Given the description of an element on the screen output the (x, y) to click on. 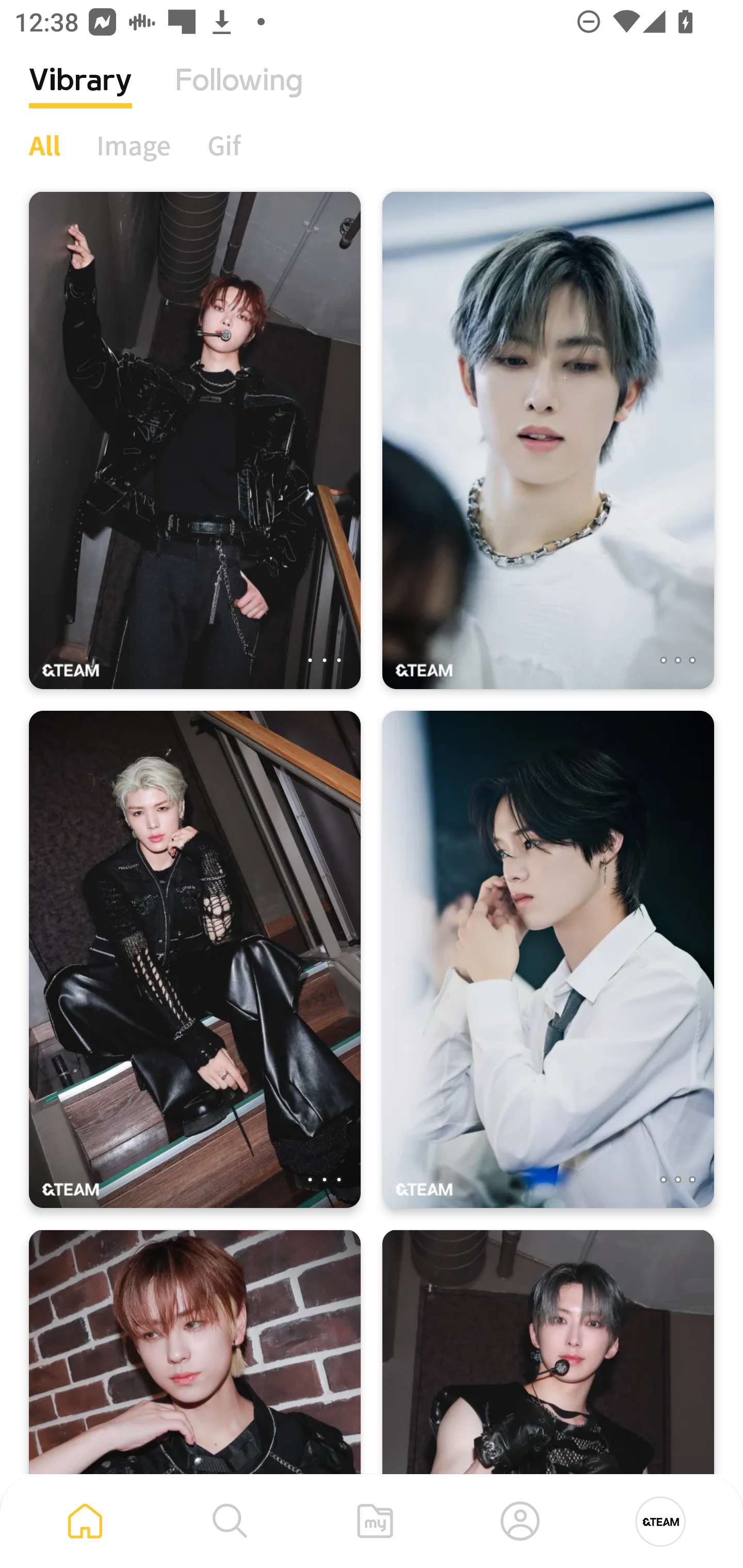
Vibrary (80, 95)
Following (239, 95)
All (44, 145)
Image (133, 145)
Gif (223, 145)
